Given the description of an element on the screen output the (x, y) to click on. 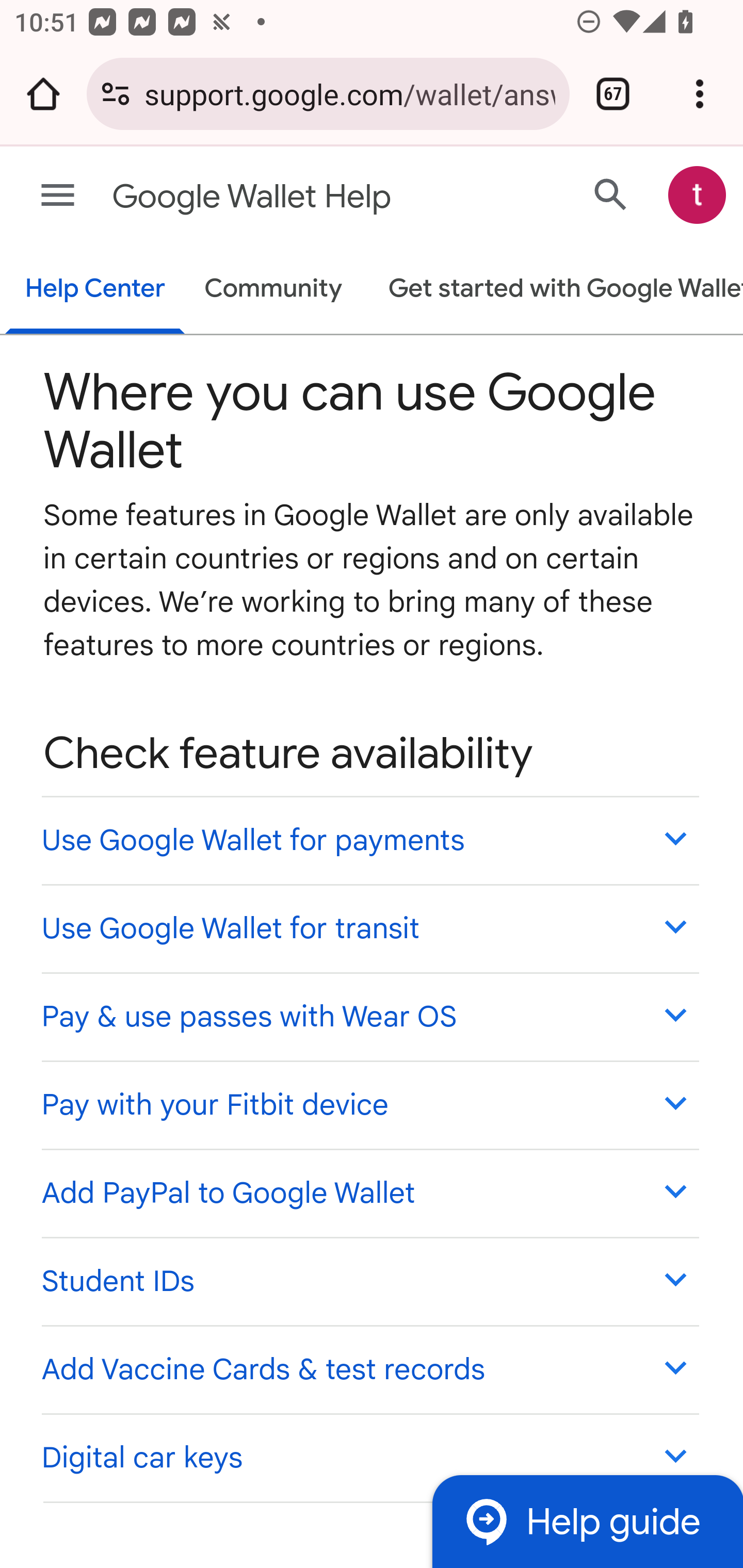
Open the home page (43, 93)
Connection is secure (115, 93)
Switch or close tabs (612, 93)
Customize and control Google Chrome (699, 93)
Main menu (58, 195)
Google Wallet Help (292, 197)
Search Help Center (611, 194)
Help Center (94, 289)
Community (273, 289)
Get started with Google Wallet (555, 289)
Use Google Wallet for payments (369, 839)
Use Google Wallet for transit (369, 927)
Pay & use passes with Wear OS (369, 1015)
Pay with your Fitbit device (369, 1104)
Add PayPal to Google Wallet (369, 1192)
Student IDs (369, 1279)
Add Vaccine Cards & test records (369, 1367)
Digital car keys (369, 1456)
Help guide (587, 1520)
